Given the description of an element on the screen output the (x, y) to click on. 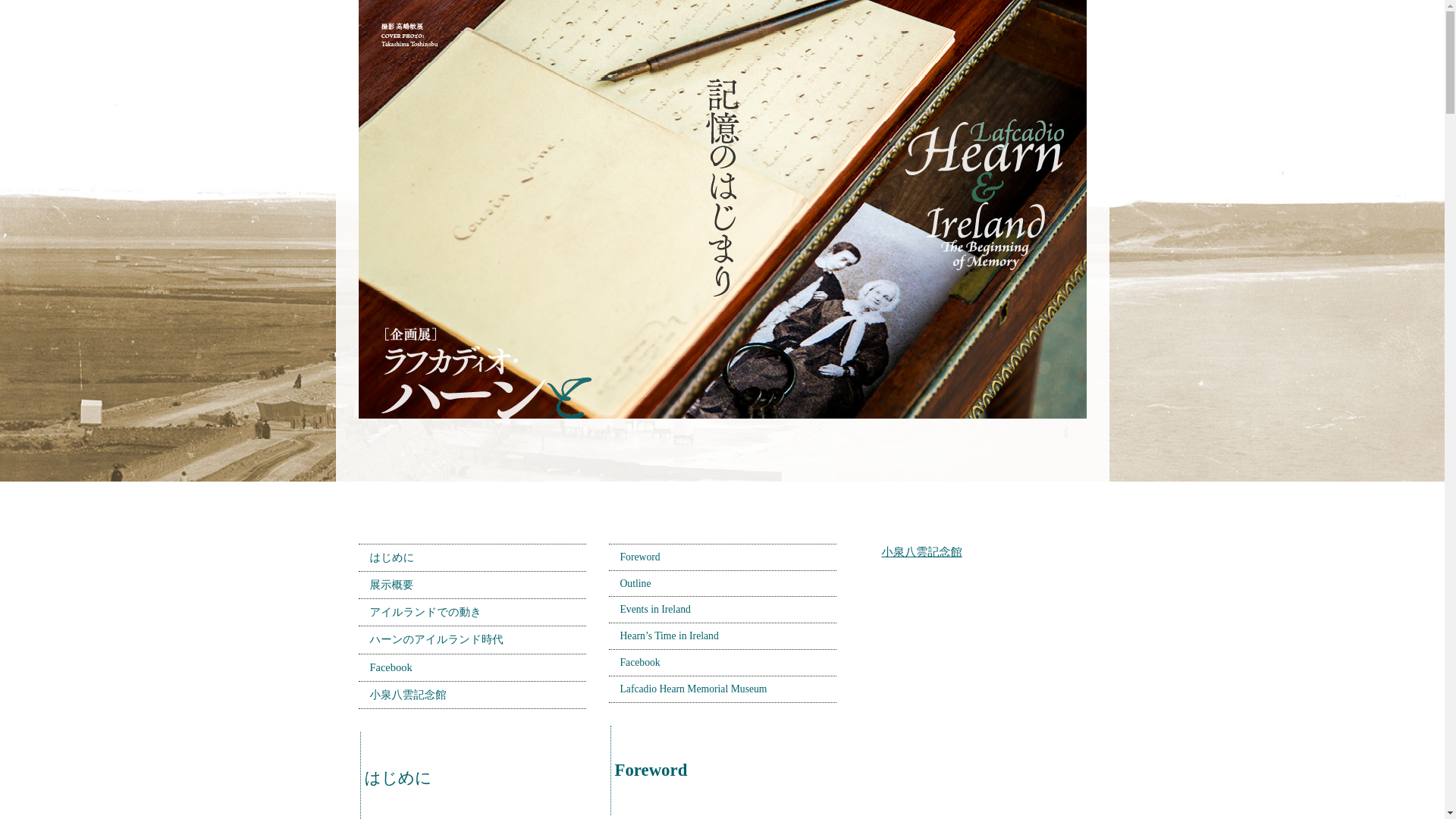
Facebook (471, 667)
Outline (721, 583)
Facebook (721, 662)
Lafcadio Hearn Memorial Museum (721, 688)
Events in Ireland (721, 609)
Foreword (721, 557)
